Given the description of an element on the screen output the (x, y) to click on. 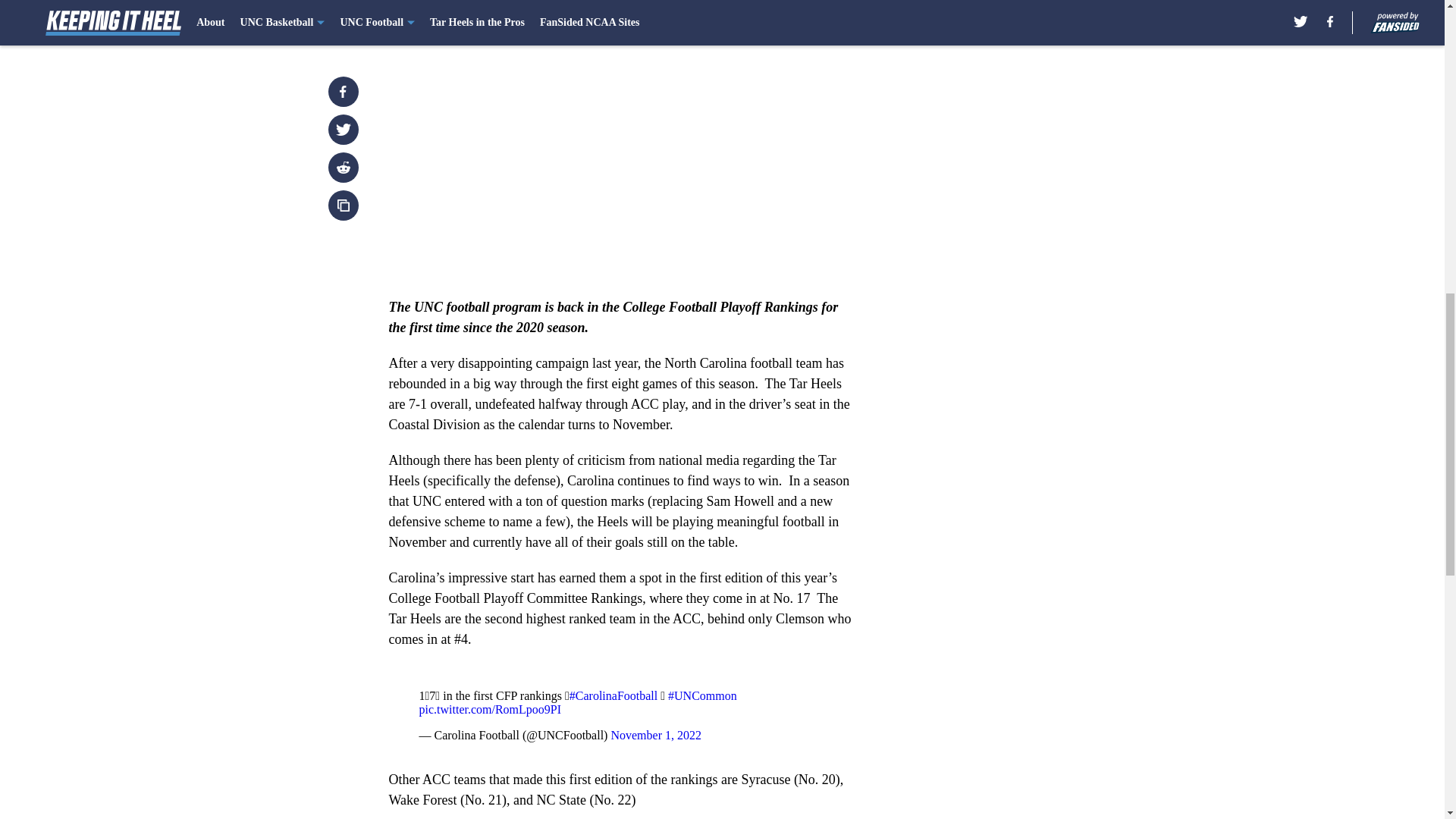
November 1, 2022 (655, 735)
